Given the description of an element on the screen output the (x, y) to click on. 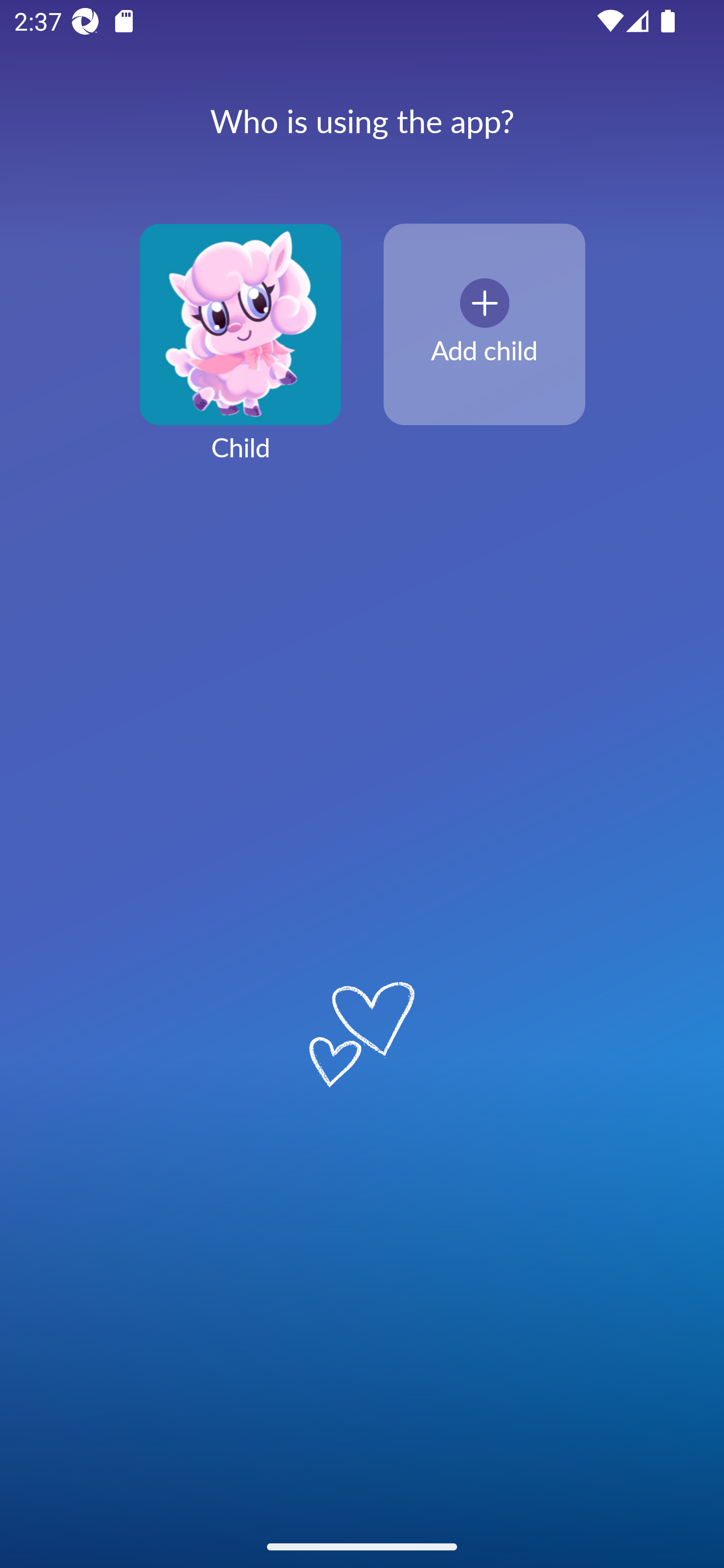
Child (240, 354)
Add child (483, 324)
